Given the description of an element on the screen output the (x, y) to click on. 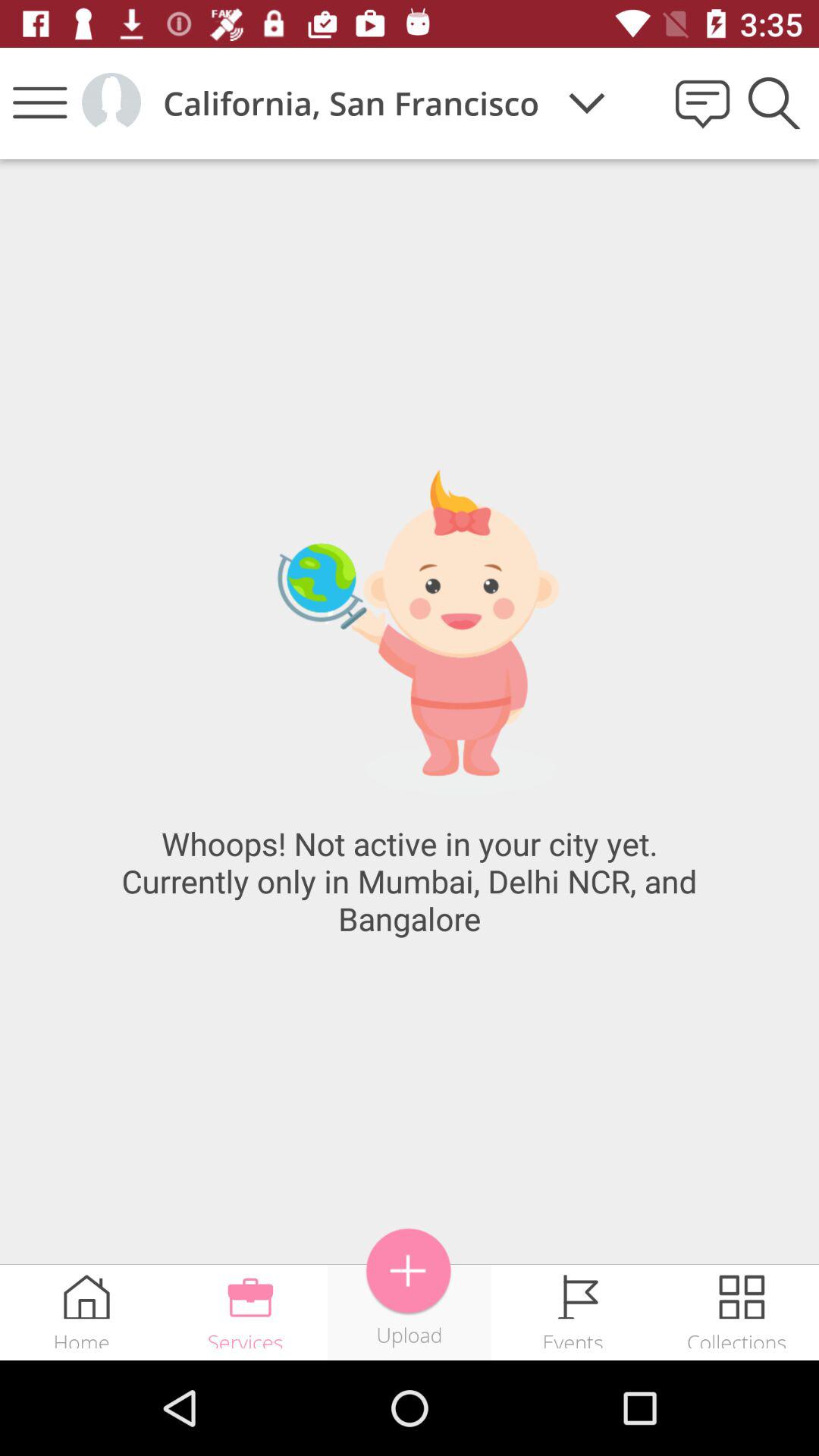
to upload (408, 1271)
